Given the description of an element on the screen output the (x, y) to click on. 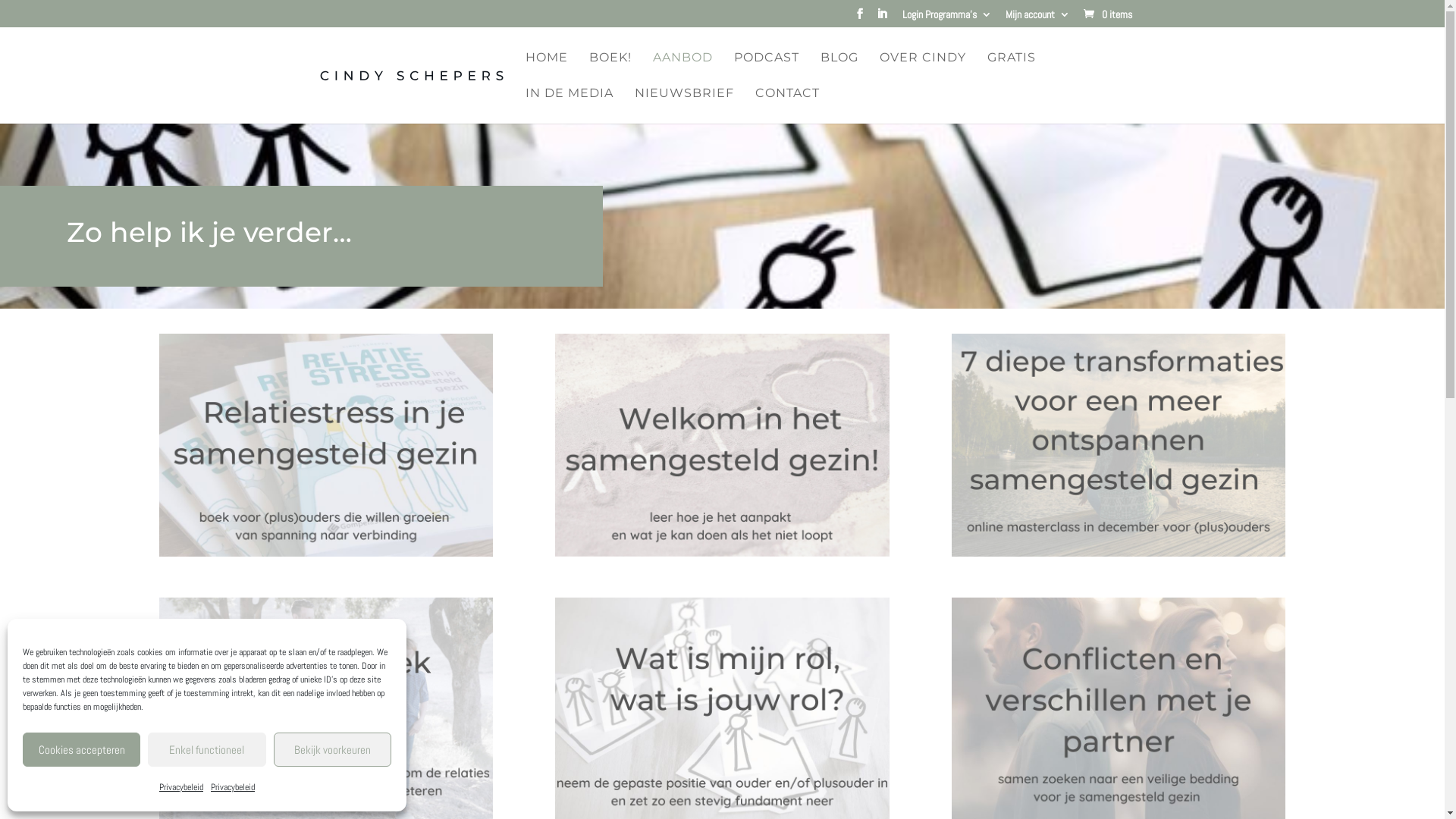
IN DE MEDIA Element type: text (568, 105)
01 Boek Element type: hover (326, 444)
Privacybeleid Element type: text (232, 787)
OVER CINDY Element type: text (922, 69)
Mijn account Element type: text (1037, 18)
BOEK! Element type: text (609, 69)
NIEUWSBRIEF Element type: text (683, 105)
BLOG Element type: text (839, 69)
masterclass Element type: hover (1118, 444)
PODCAST Element type: text (766, 69)
Welkom in het samengesteld gezin Element type: hover (722, 444)
Enkel functioneel Element type: text (206, 749)
HOME Element type: text (545, 69)
Privacybeleid Element type: text (181, 787)
CONTACT Element type: text (787, 105)
AANBOD Element type: text (682, 69)
GRATIS Element type: text (1011, 69)
Cookies accepteren Element type: text (81, 749)
Bekijk voorkeuren Element type: text (332, 749)
0 items Element type: text (1106, 14)
